Given the description of an element on the screen output the (x, y) to click on. 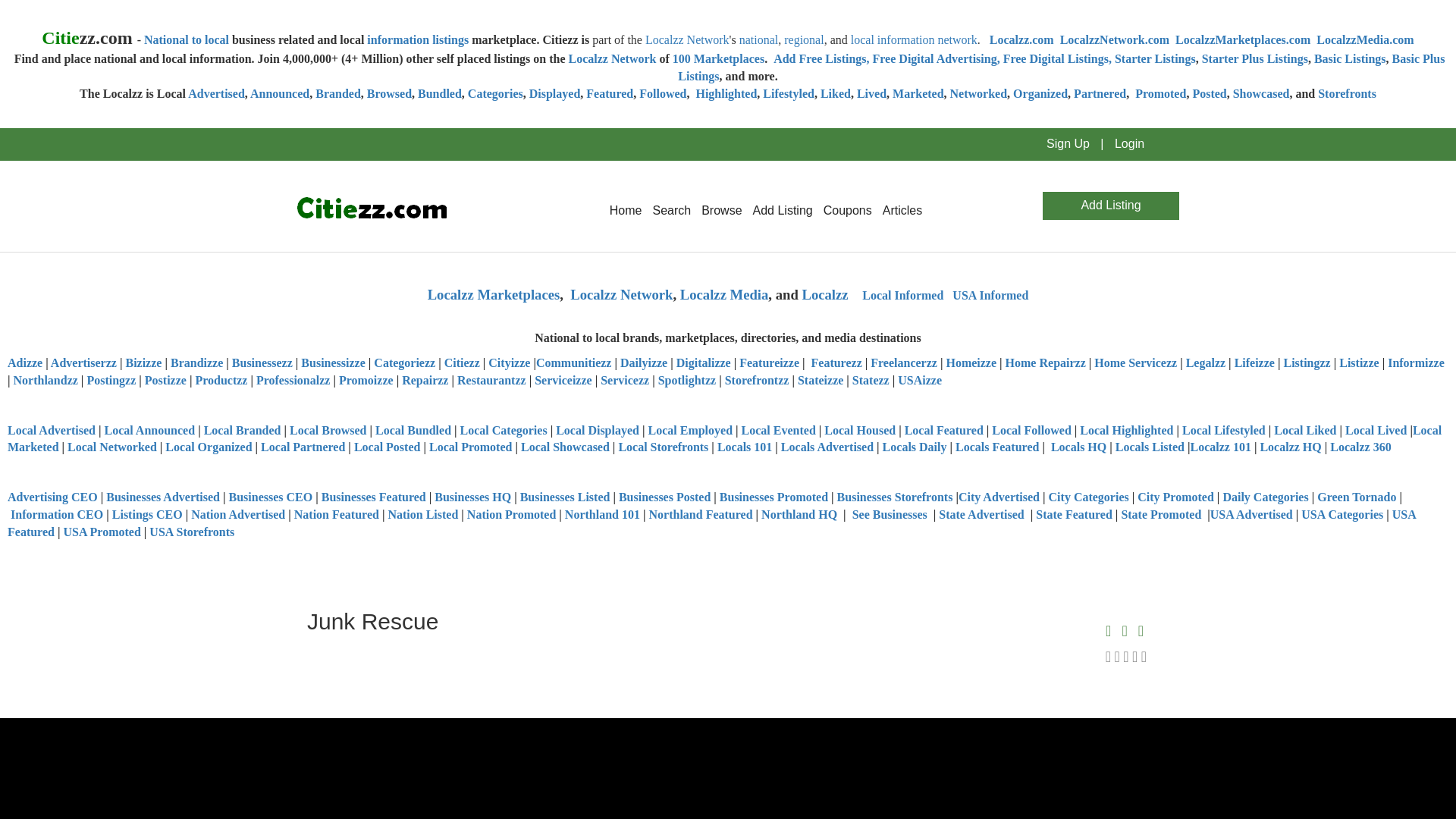
Organized (1040, 92)
Posted (1208, 92)
Lifestyled (787, 92)
Localzz Network (687, 39)
Free Digital Advertising, (937, 58)
LocalzzMarketplaces.com (1242, 39)
Starter Plus Listings (1254, 58)
Storefronts (1346, 92)
Bundled (439, 92)
national (758, 39)
Browsed (389, 92)
National to local (186, 39)
Lived (871, 92)
Featured (609, 92)
Displayed (554, 92)
